Given the description of an element on the screen output the (x, y) to click on. 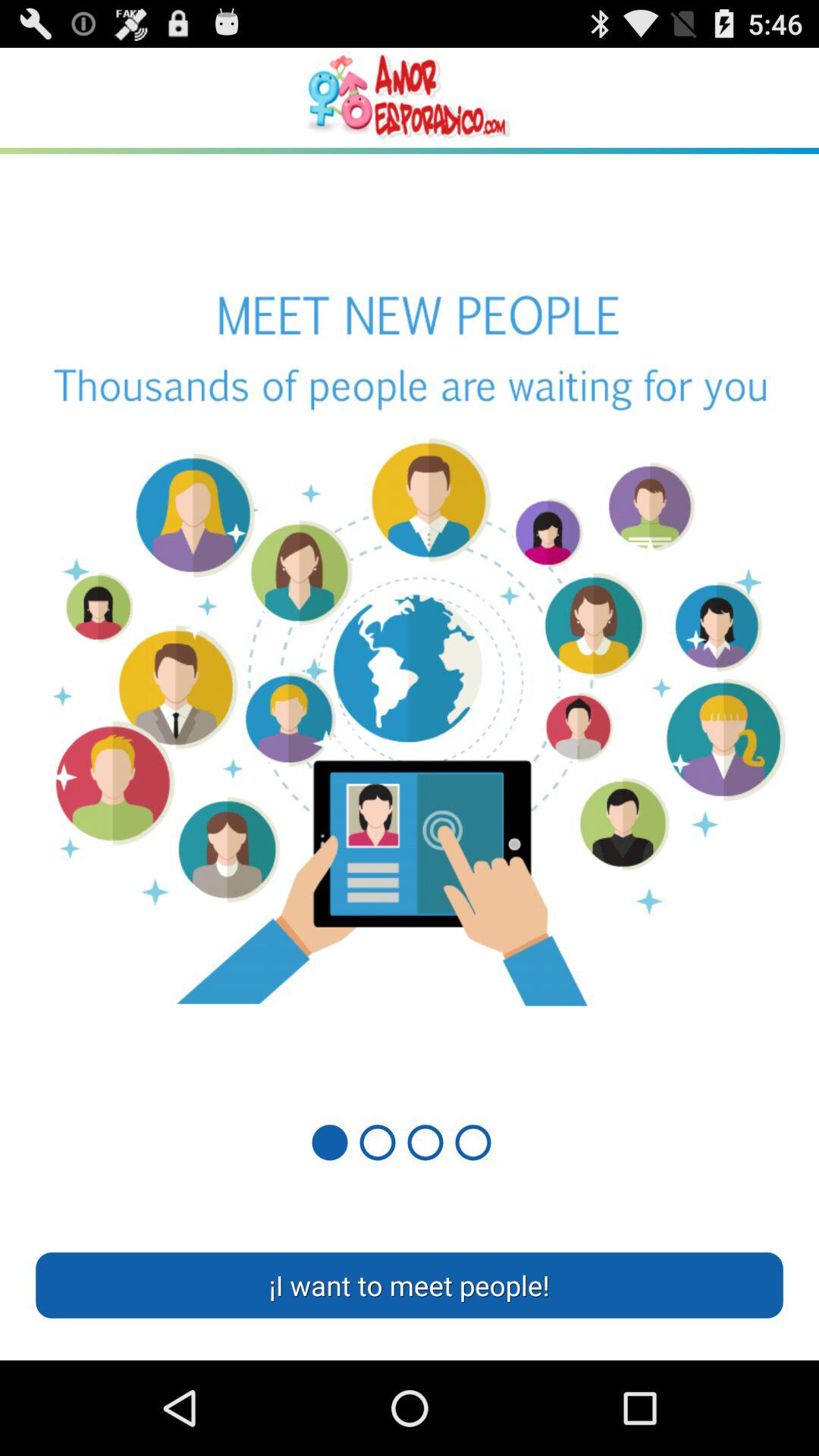
open i want to icon (409, 1285)
